Given the description of an element on the screen output the (x, y) to click on. 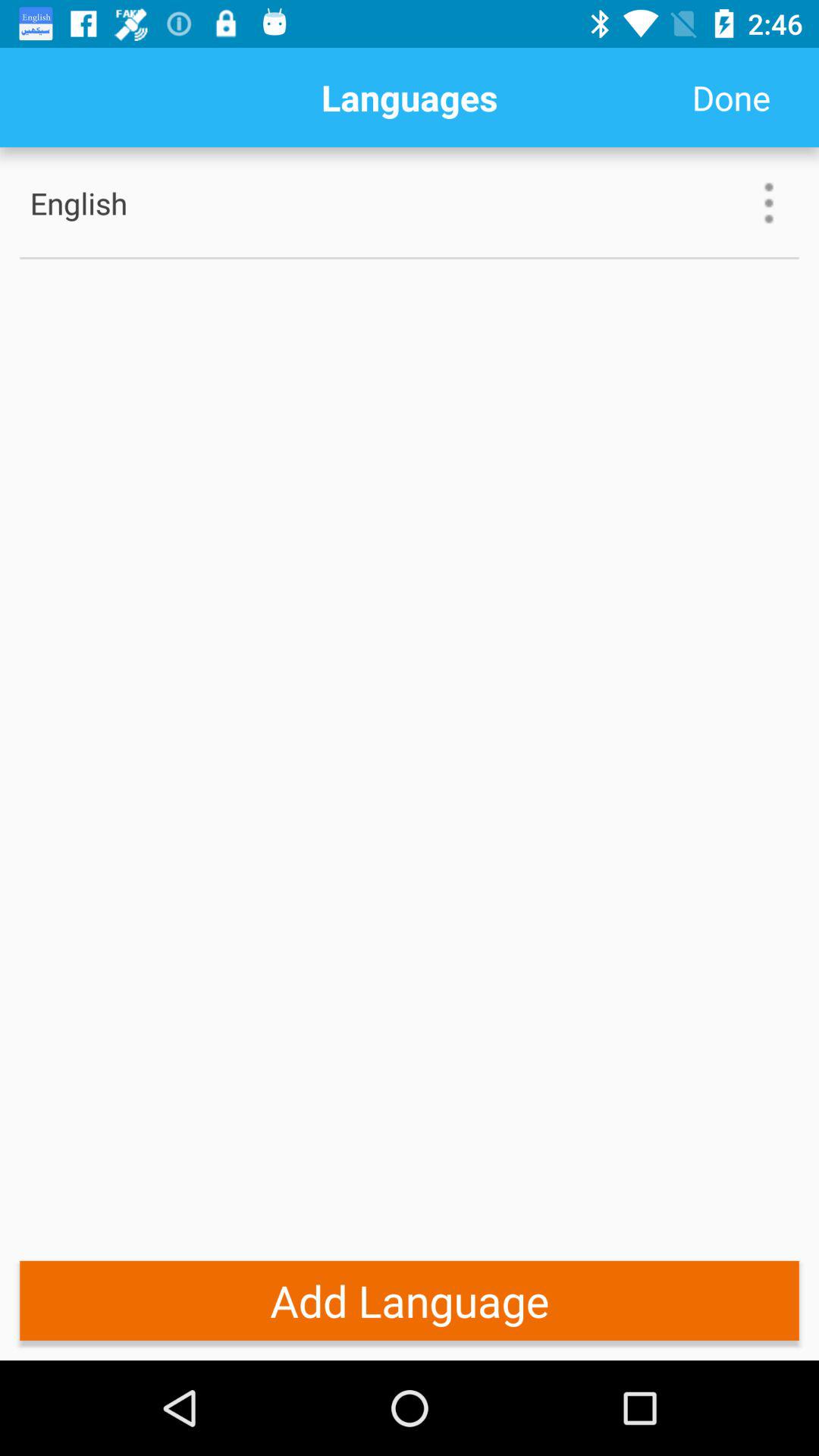
launch icon below done item (768, 202)
